Given the description of an element on the screen output the (x, y) to click on. 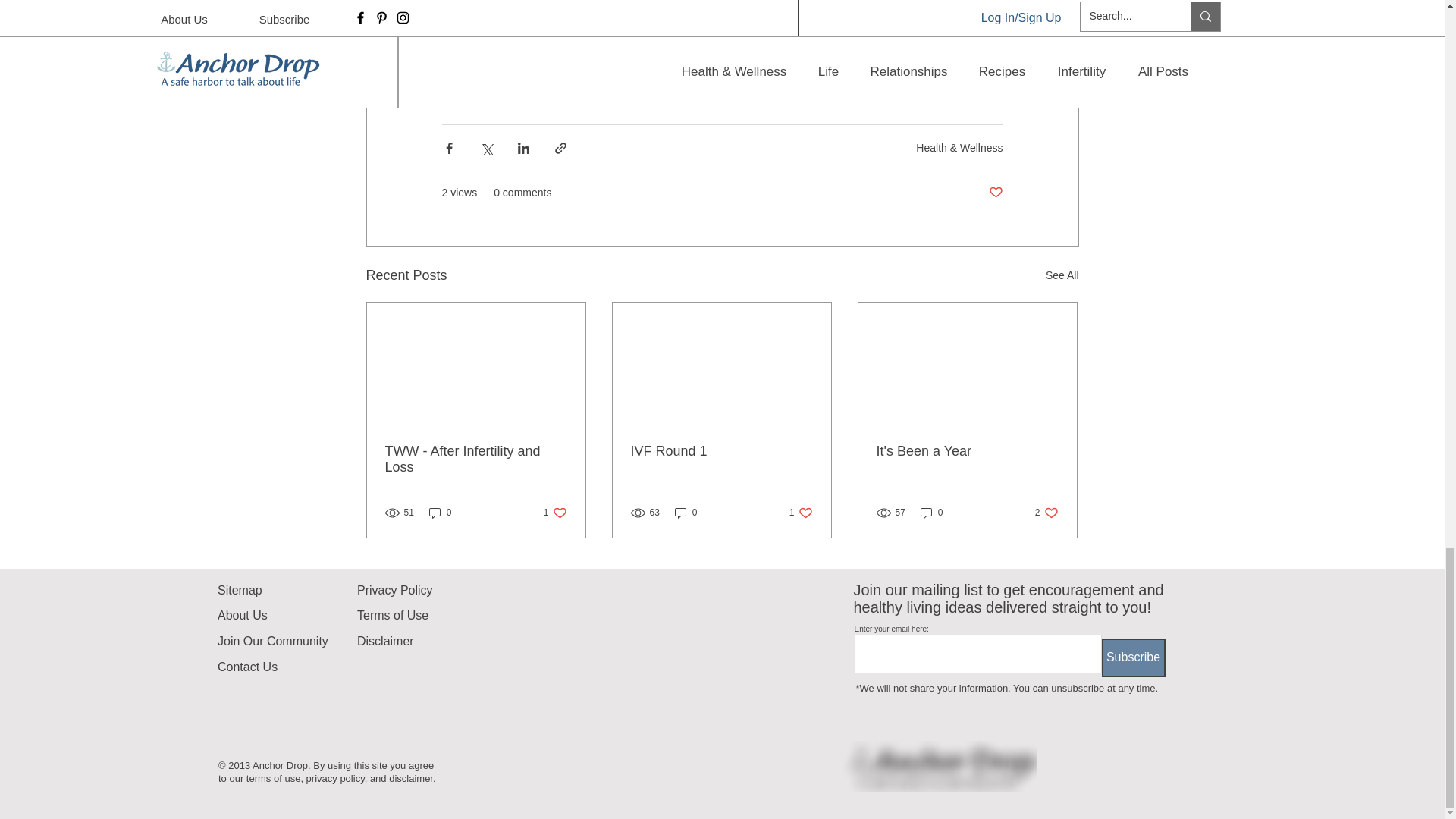
0 (685, 513)
See All (1061, 275)
Post not marked as liked (995, 192)
0 (440, 513)
TWW - After Infertility and Loss (800, 513)
IVF Round 1 (476, 459)
Anchor Drop Home (555, 513)
